Given the description of an element on the screen output the (x, y) to click on. 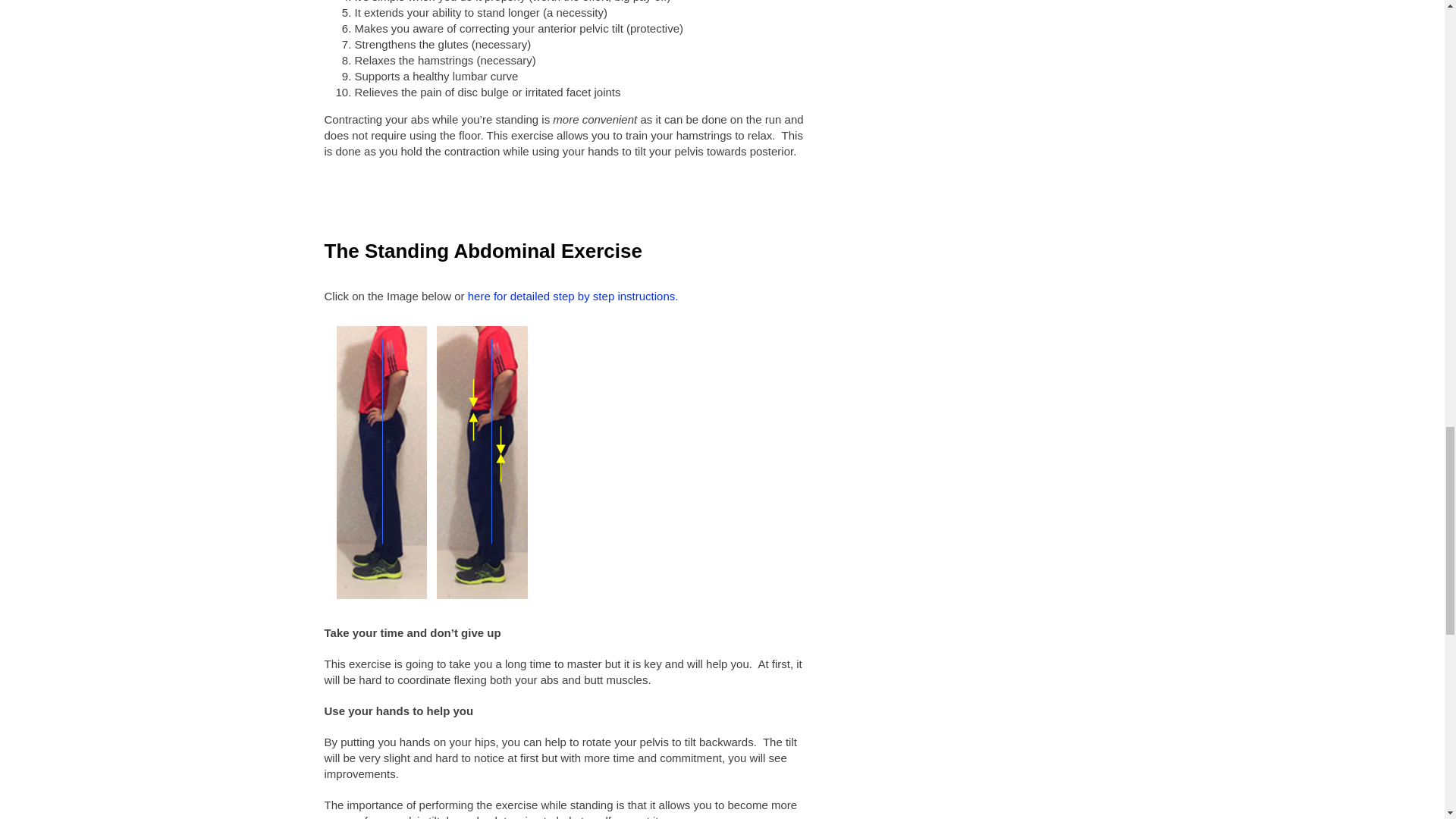
here for detailed step by step instructions. (572, 295)
